Given the description of an element on the screen output the (x, y) to click on. 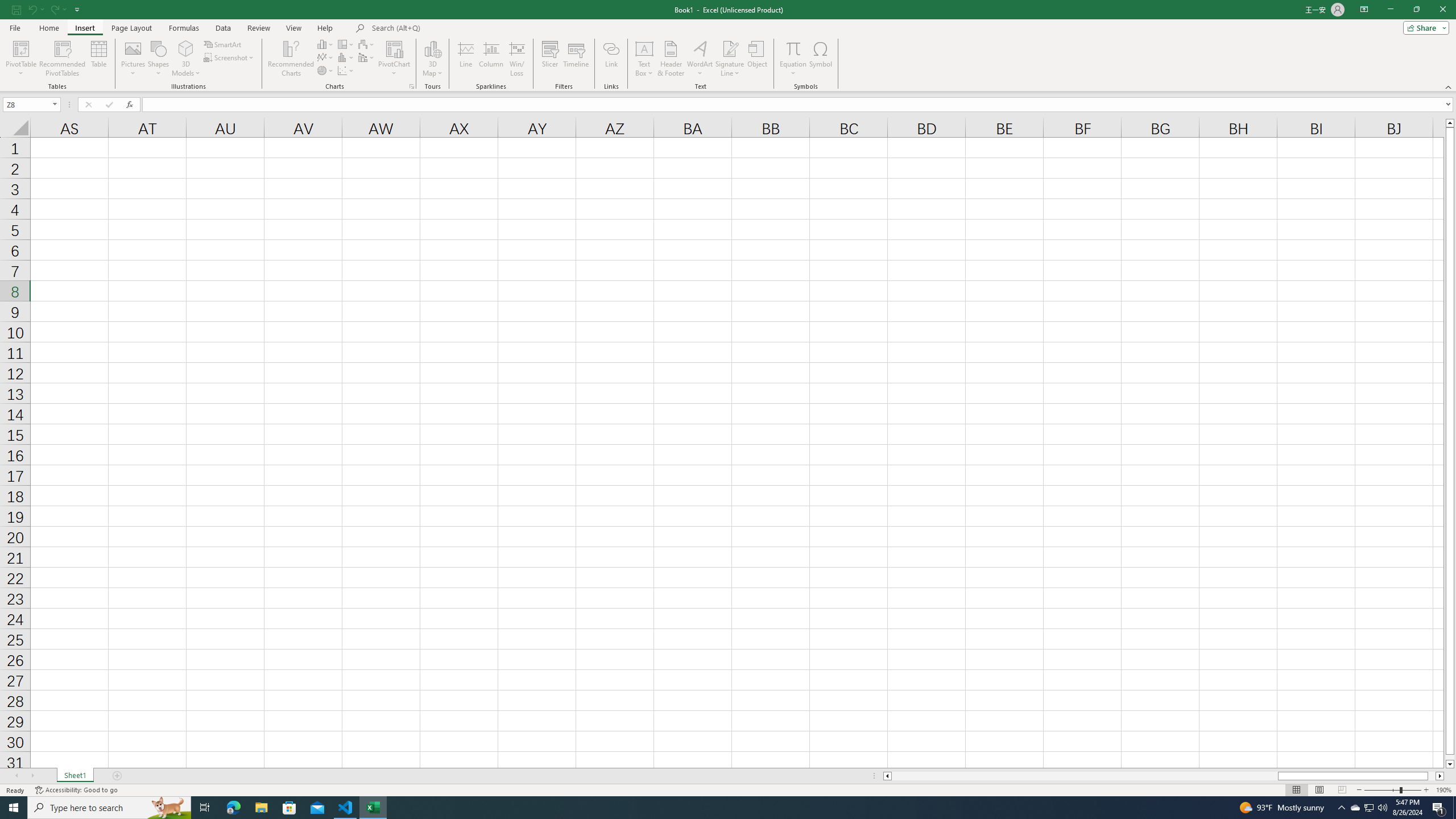
Signature Line (729, 48)
Link (611, 58)
Insert Scatter (X, Y) or Bubble Chart (346, 69)
Equation (793, 48)
3D Models (186, 58)
Table (98, 58)
